Given the description of an element on the screen output the (x, y) to click on. 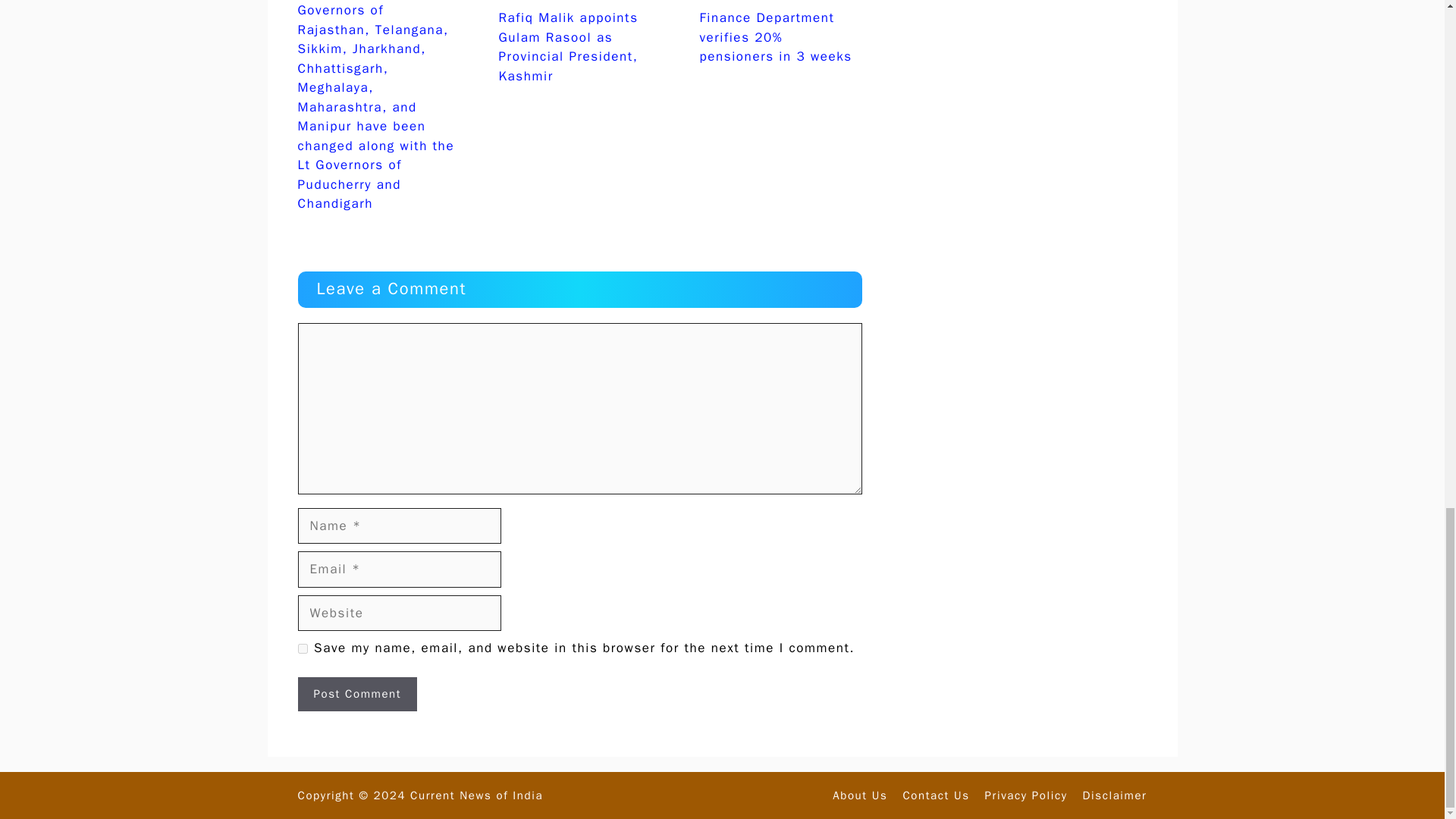
Post Comment (356, 694)
yes (302, 648)
Post Comment (356, 694)
